Given the description of an element on the screen output the (x, y) to click on. 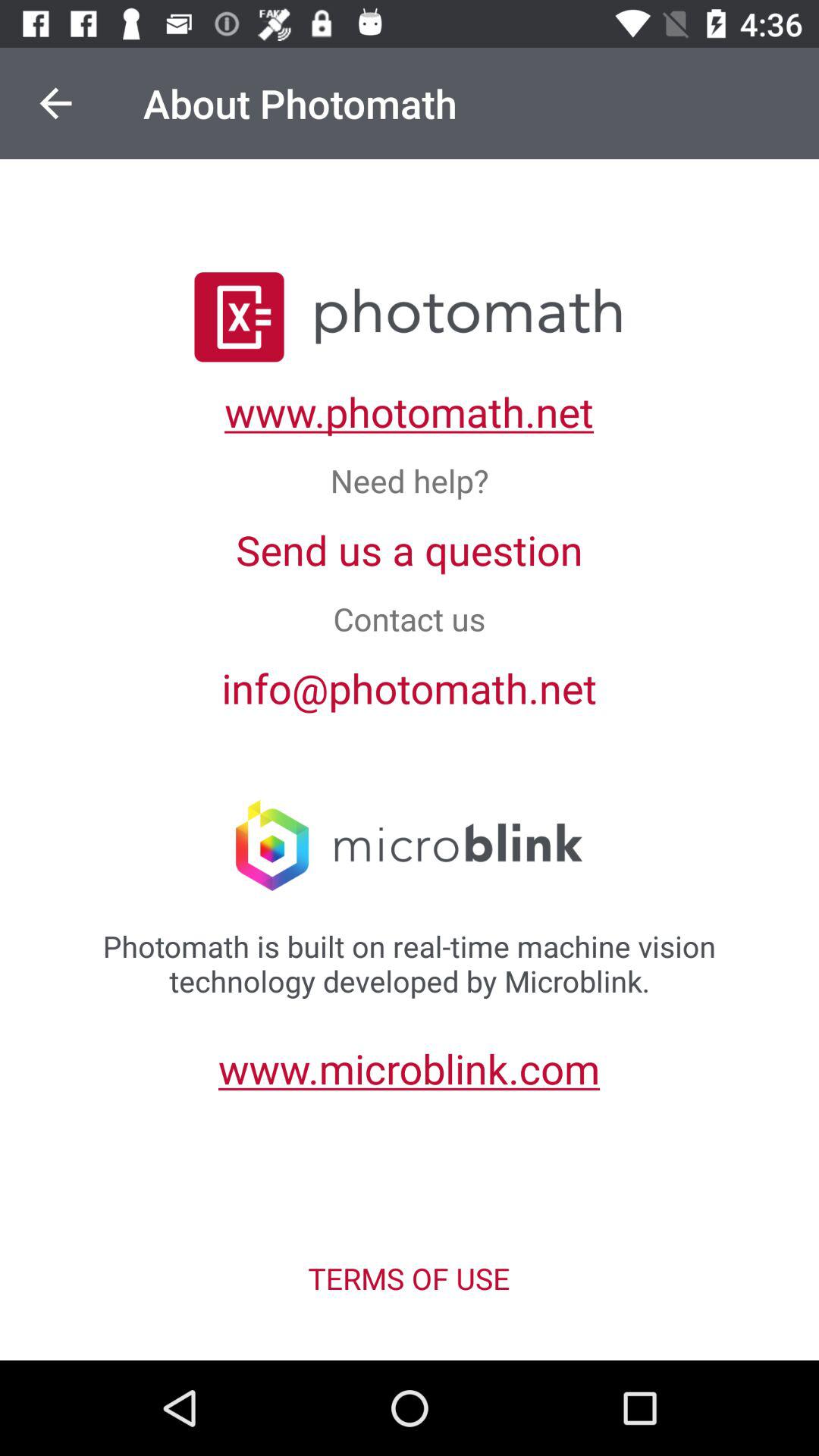
turn off the terms of use icon (409, 1278)
